Given the description of an element on the screen output the (x, y) to click on. 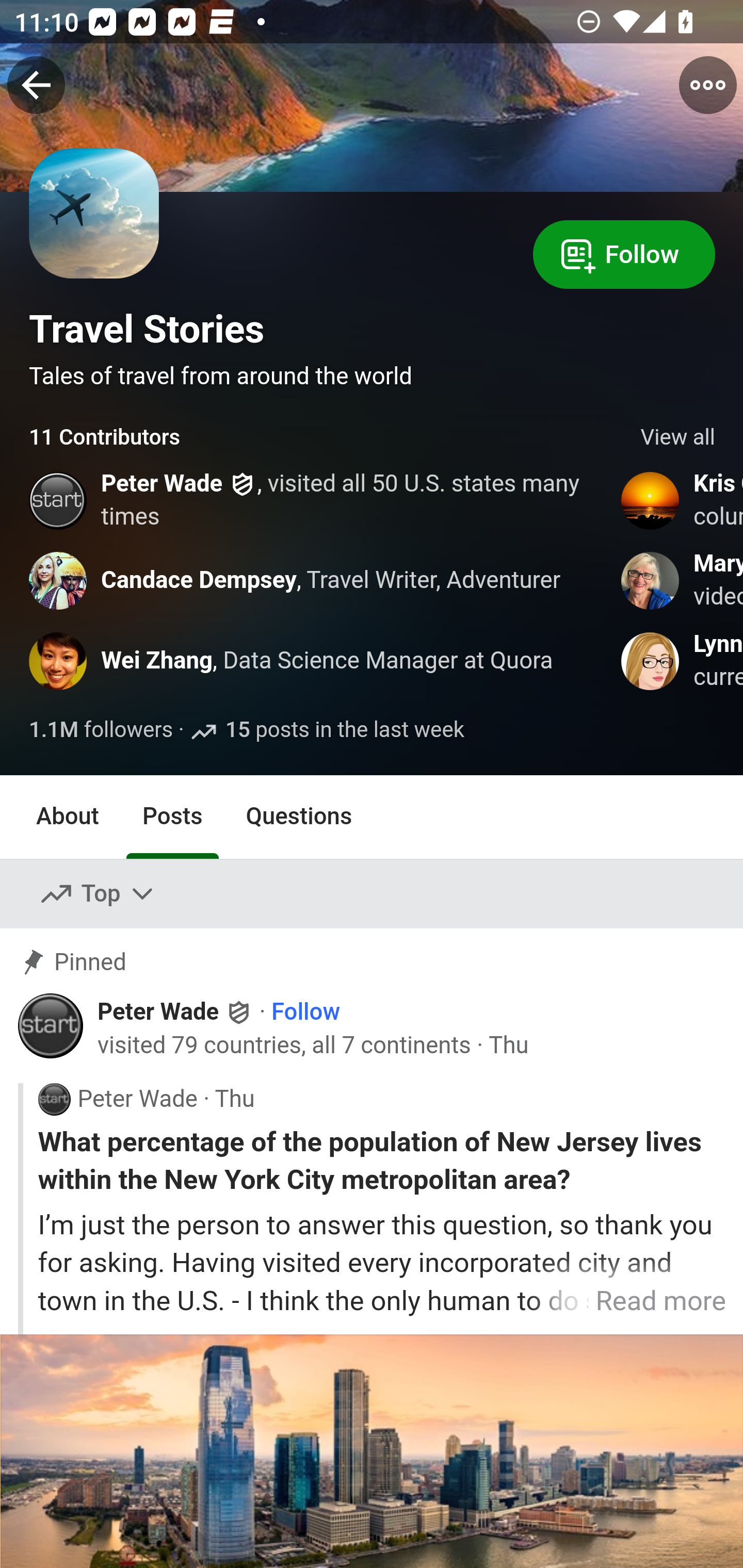
Follow (623, 252)
Travel Stories (146, 329)
View all (677, 437)
Peter Wade (162, 484)
Profile photo for Peter Wade (58, 499)
Profile photo for Kris Craig (650, 499)
Profile photo for Candace Dempsey (58, 579)
Profile photo for Mary Bartnikowski (650, 579)
Candace Dempsey (199, 579)
Profile photo for Wei Zhang (58, 661)
Profile photo for Lynn McDonald (650, 661)
Wei Zhang (157, 660)
1.1M followers (101, 731)
About (68, 816)
Posts (171, 816)
Questions (299, 816)
Top (97, 894)
Profile photo for Peter Wade (50, 1025)
Peter Wade Peter Wade   (175, 1010)
Follow (306, 1011)
Profile photo for Peter Wade (54, 1098)
